Given the description of an element on the screen output the (x, y) to click on. 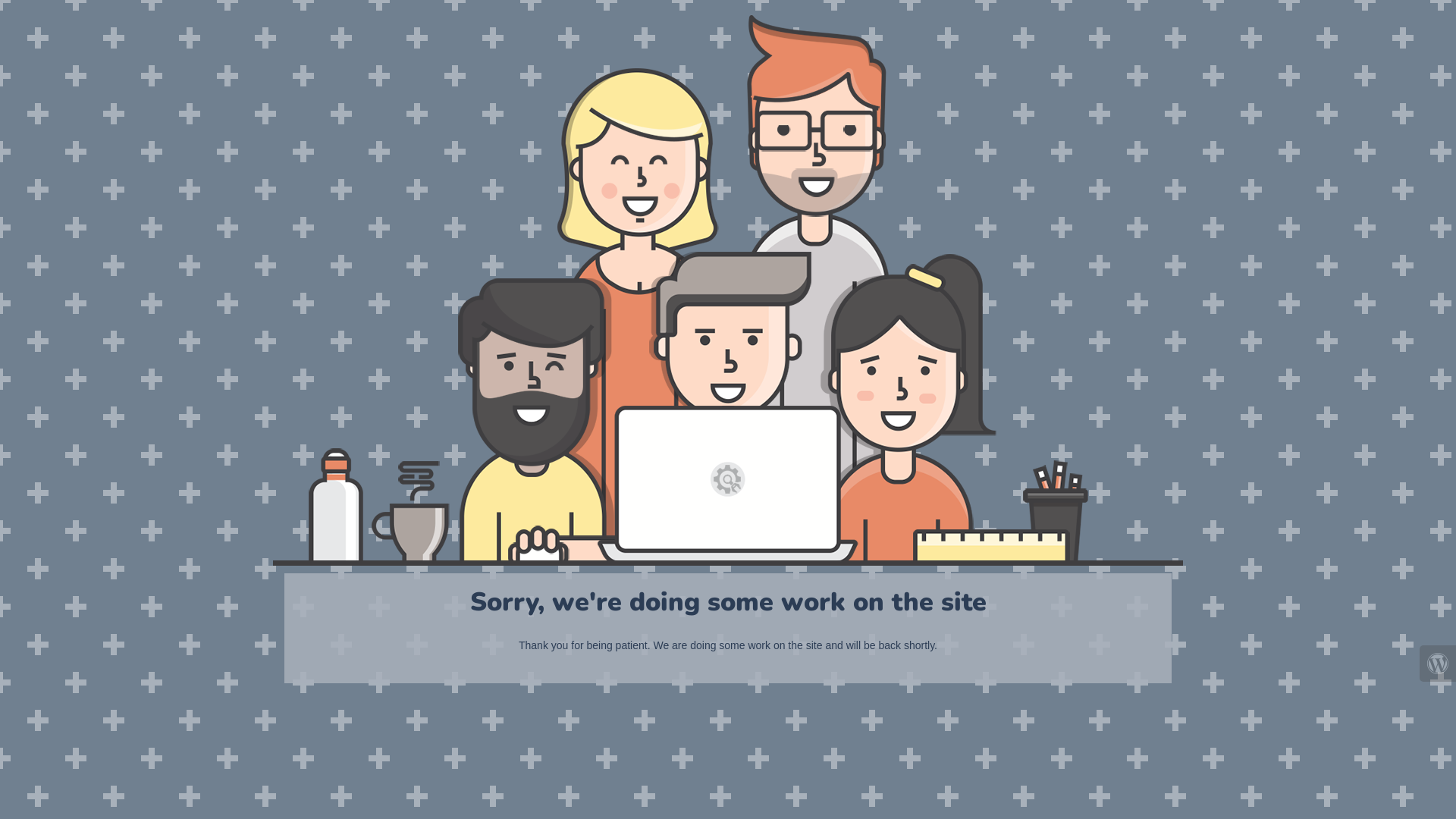
People at Work Element type: hover (728, 290)
